Given the description of an element on the screen output the (x, y) to click on. 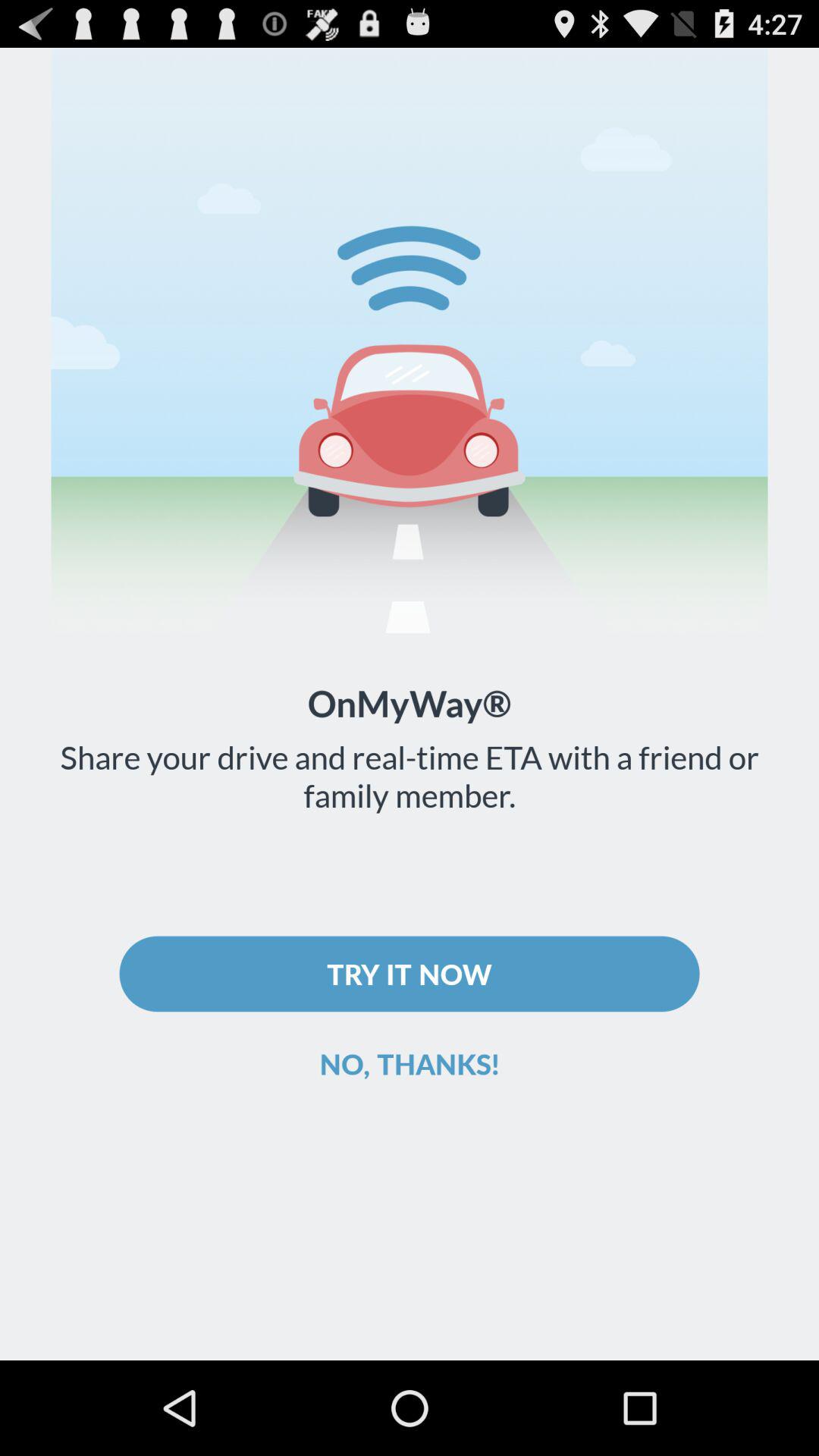
click the item above the no, thanks! (409, 973)
